Given the description of an element on the screen output the (x, y) to click on. 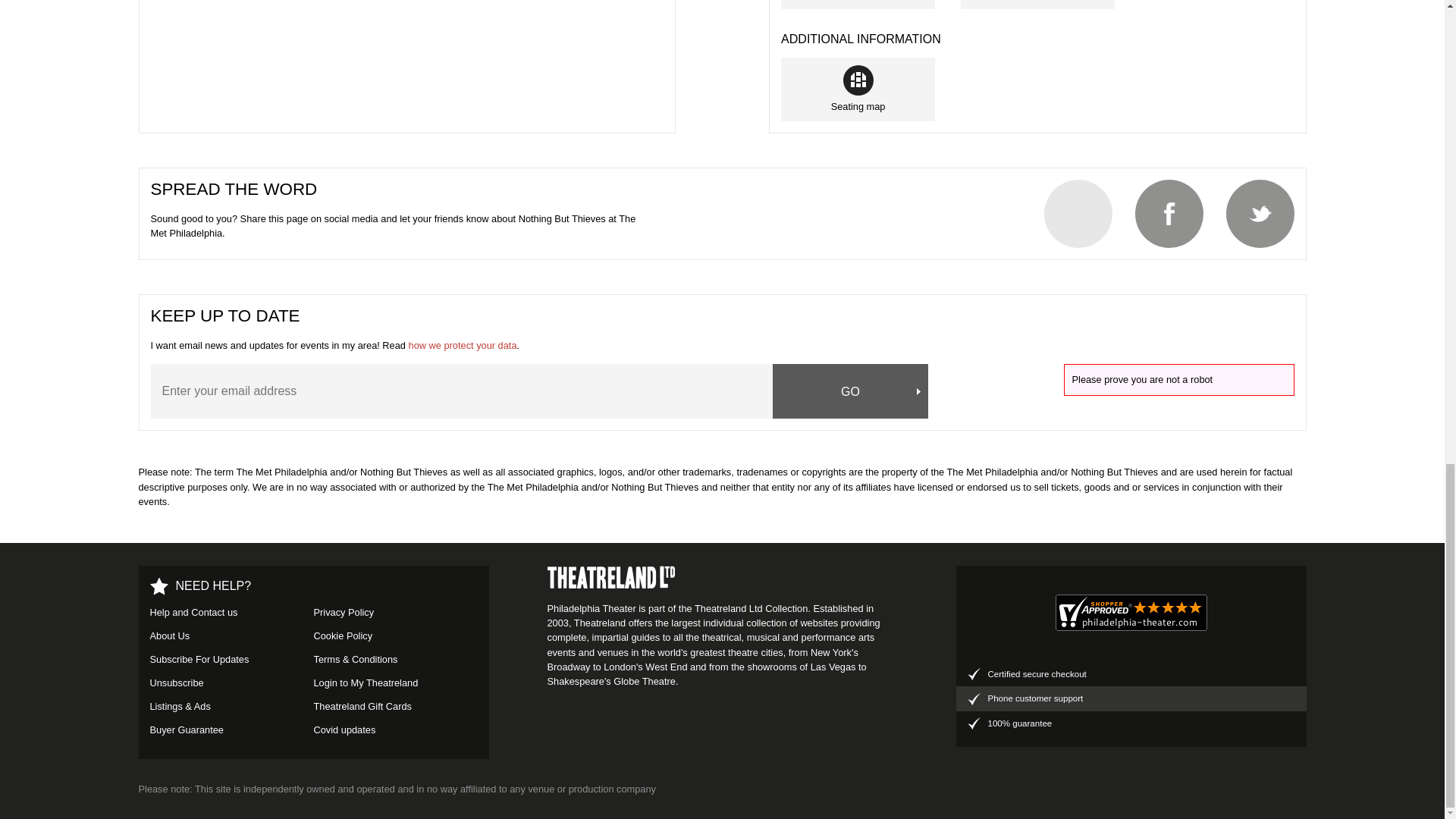
GO (850, 390)
